Given the description of an element on the screen output the (x, y) to click on. 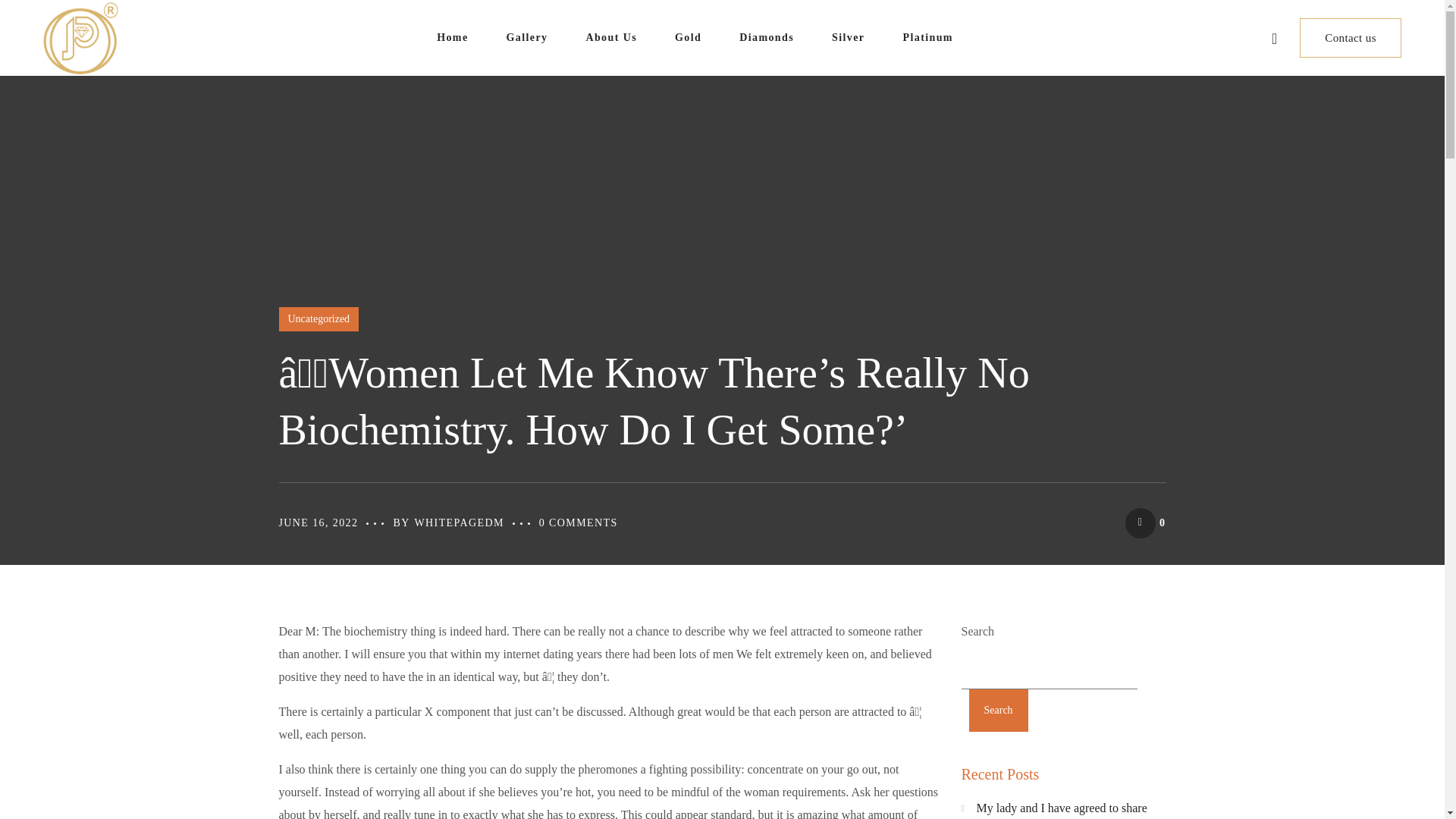
Like (1145, 522)
Leave a reply (577, 522)
0 LIKES (1145, 522)
Diamonds (766, 38)
Platinum (927, 38)
About Us (611, 38)
Uncategorized (319, 319)
Contact us (1350, 37)
0 COMMENTS (577, 522)
Gold (688, 38)
Silver (847, 38)
WHITEPAGEDM (458, 522)
Gallery (526, 38)
Home (451, 38)
